Given the description of an element on the screen output the (x, y) to click on. 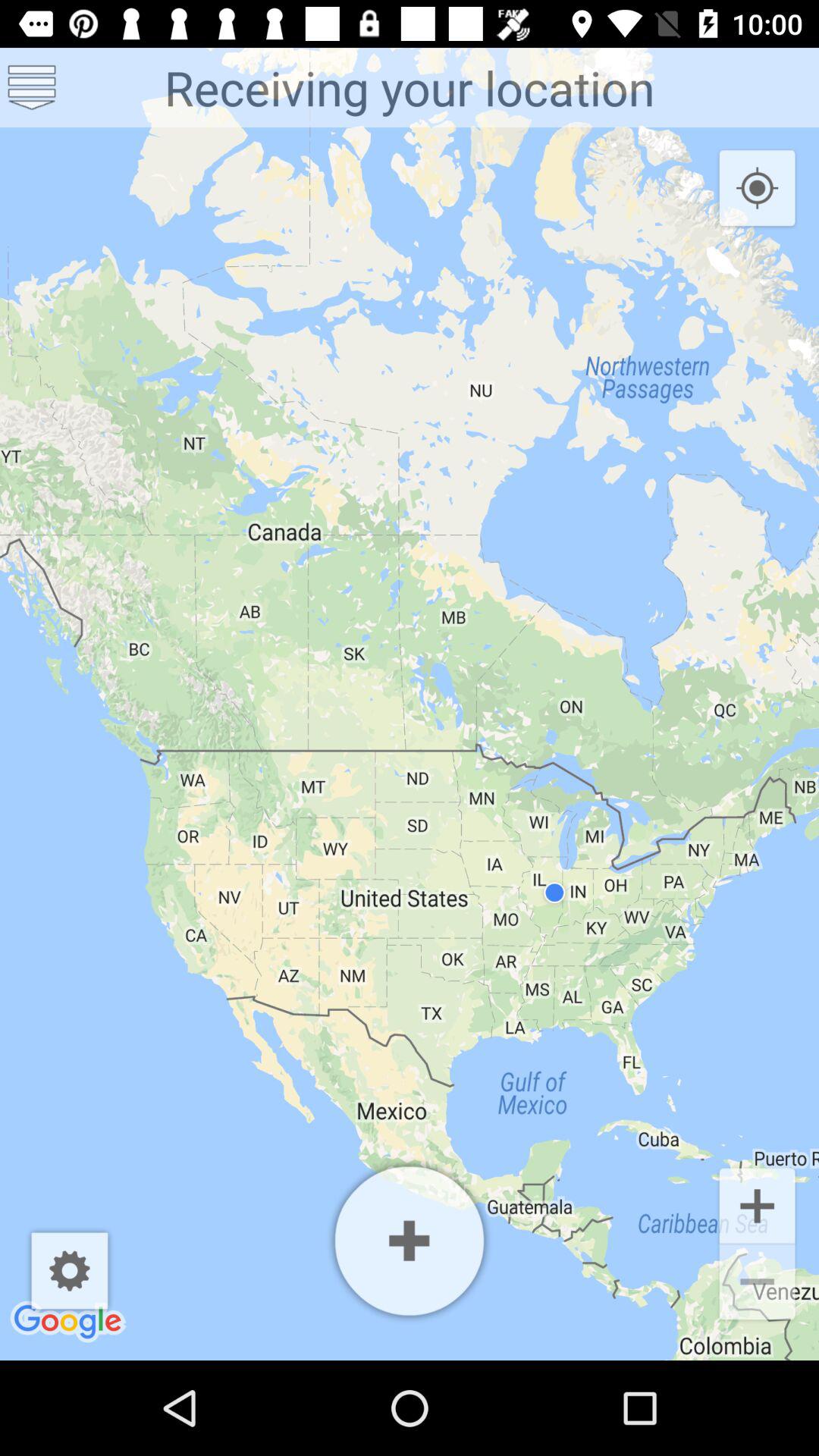
select app below receiving your location (409, 1240)
